Given the description of an element on the screen output the (x, y) to click on. 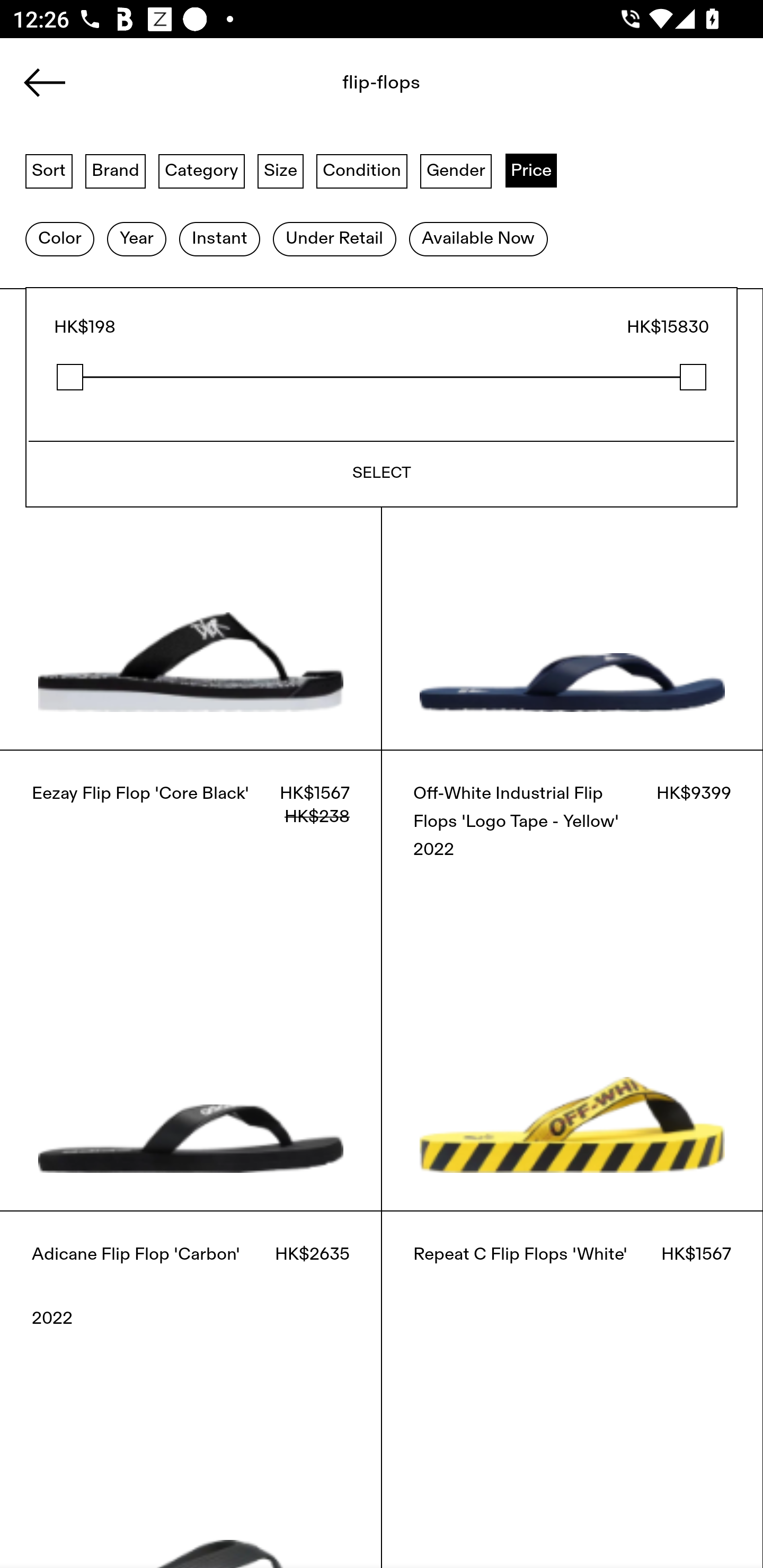
Search (340, 88)
Air Jordan 5 Retro 'Olive' 2024  (153, 168)
Brand (115, 170)
Category (201, 170)
Size (280, 170)
Condition (361, 170)
Gender (455, 170)
Price (530, 170)
Color (59, 239)
Year (136, 239)
Instant (219, 239)
Under Retail (334, 239)
Available Now (477, 239)
Eezay Flip Flop 'Dark Blue' HK$1693 HK$238 (572, 518)
Eezay Flip Flop 'Core Black' HK$1567 HK$238 (190, 979)
Adicane Flip Flop 'Carbon' HK$2635 2022 (190, 1389)
Repeat C Flip Flops 'White' HK$1567 (572, 1389)
